Given the description of an element on the screen output the (x, y) to click on. 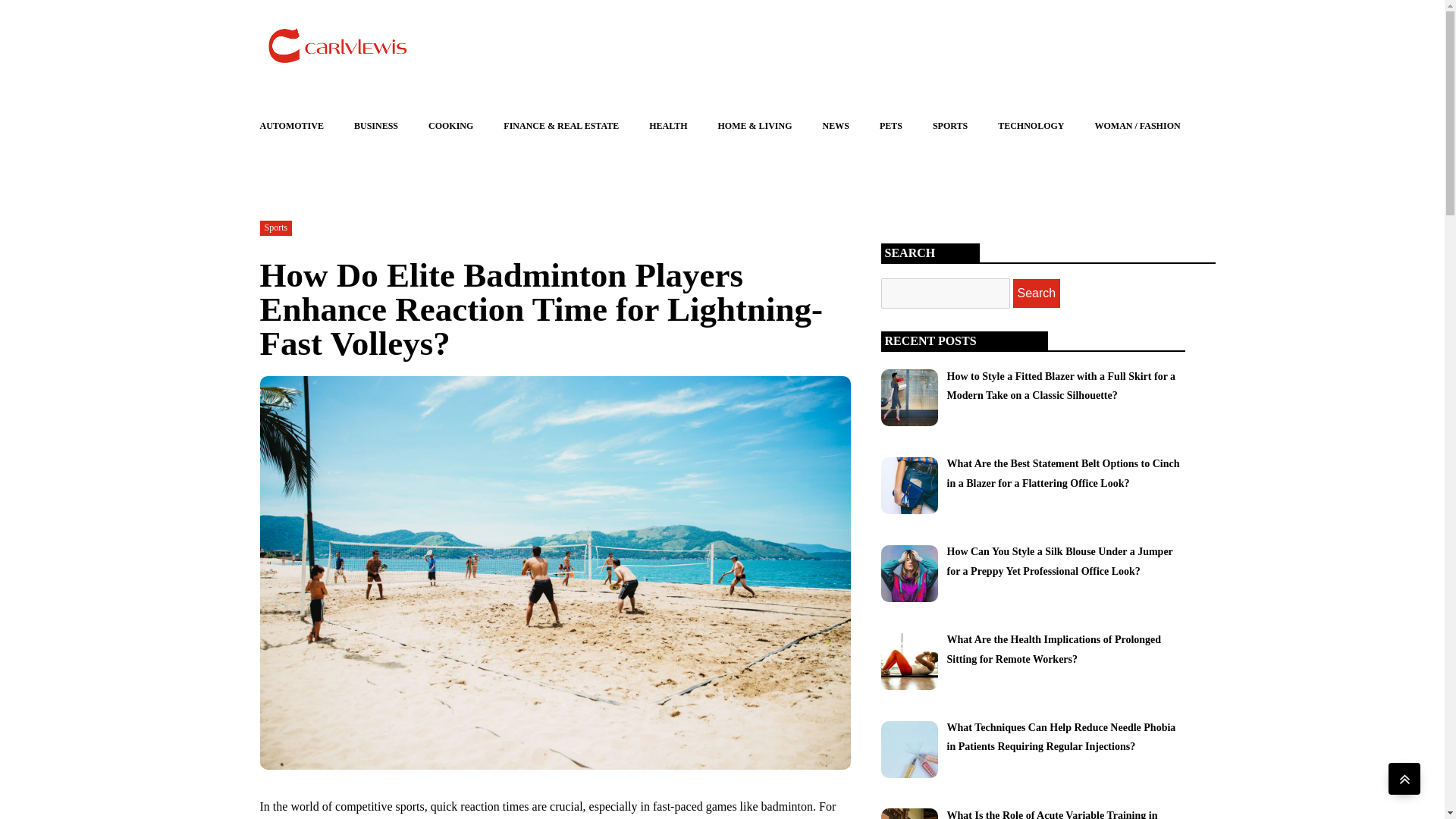
HEALTH (667, 126)
NEWS (836, 126)
Sports (274, 226)
PETS (890, 126)
COOKING (450, 126)
Search (1037, 293)
